Given the description of an element on the screen output the (x, y) to click on. 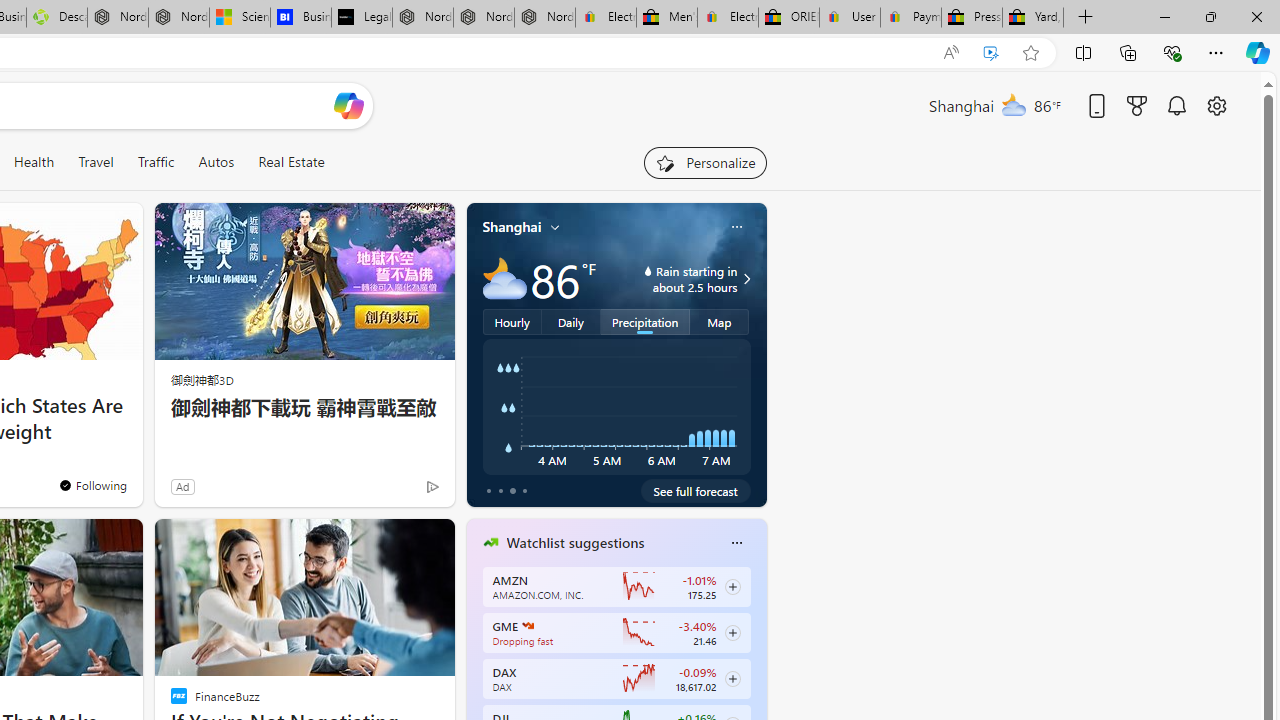
Traffic (155, 161)
Precipitation (645, 321)
Class: icon-img (736, 542)
water-drop-icon Rain starting in about 2.5 hours (674, 278)
Press Room - eBay Inc. (972, 17)
Watchlist suggestions (575, 543)
Hourly (511, 321)
Travel (95, 161)
Nordace - Summer Adventures 2024 (118, 17)
